Given the description of an element on the screen output the (x, y) to click on. 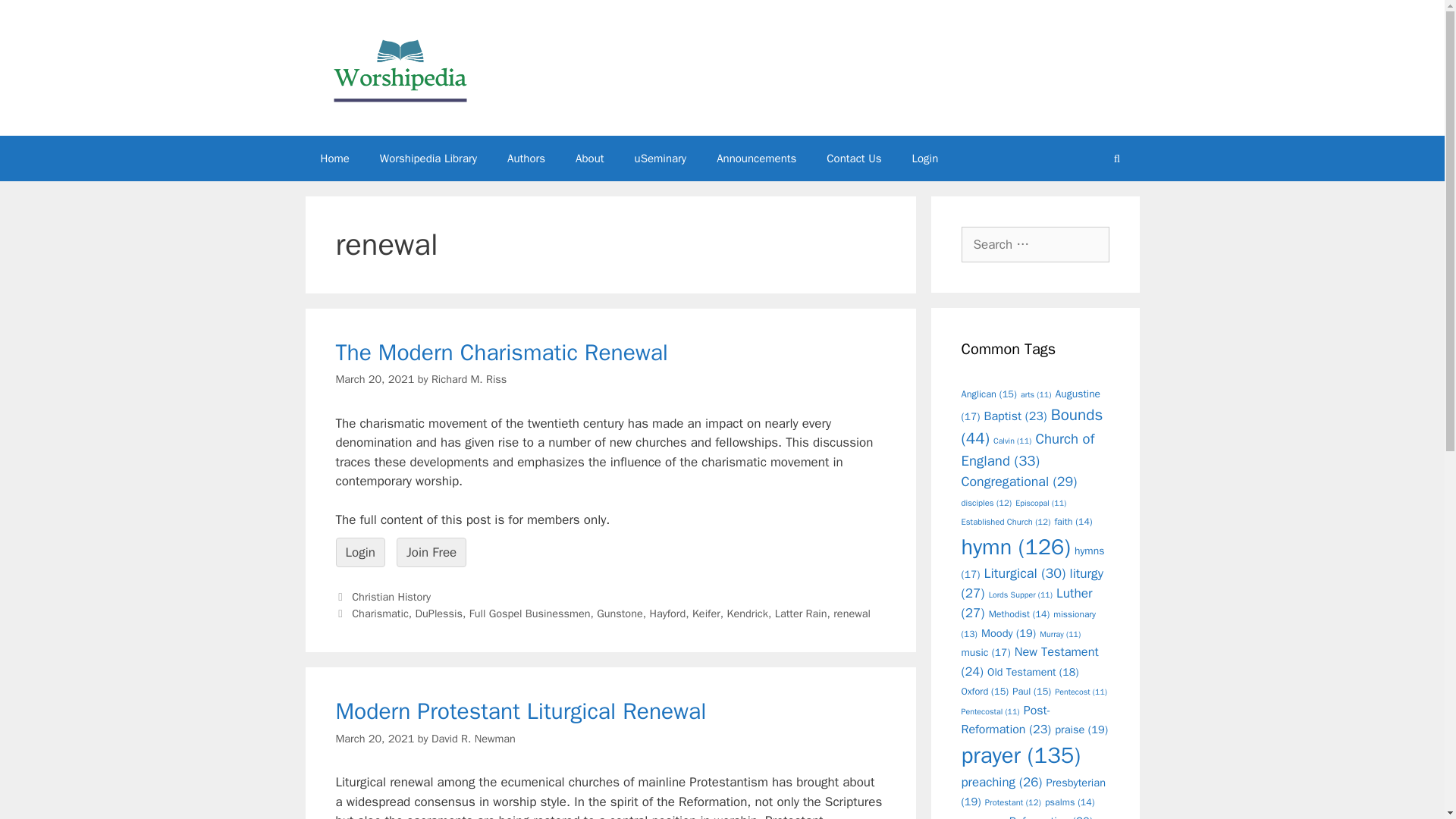
Join Free (430, 552)
Search (35, 18)
Richard M. Riss (468, 378)
The Modern Charismatic Renewal (501, 352)
March 20, 2021 (373, 378)
David R. Newman (472, 738)
Full Gospel Businessmen (529, 612)
Worshipedia (399, 66)
8:53 am (373, 738)
About (589, 157)
